Given the description of an element on the screen output the (x, y) to click on. 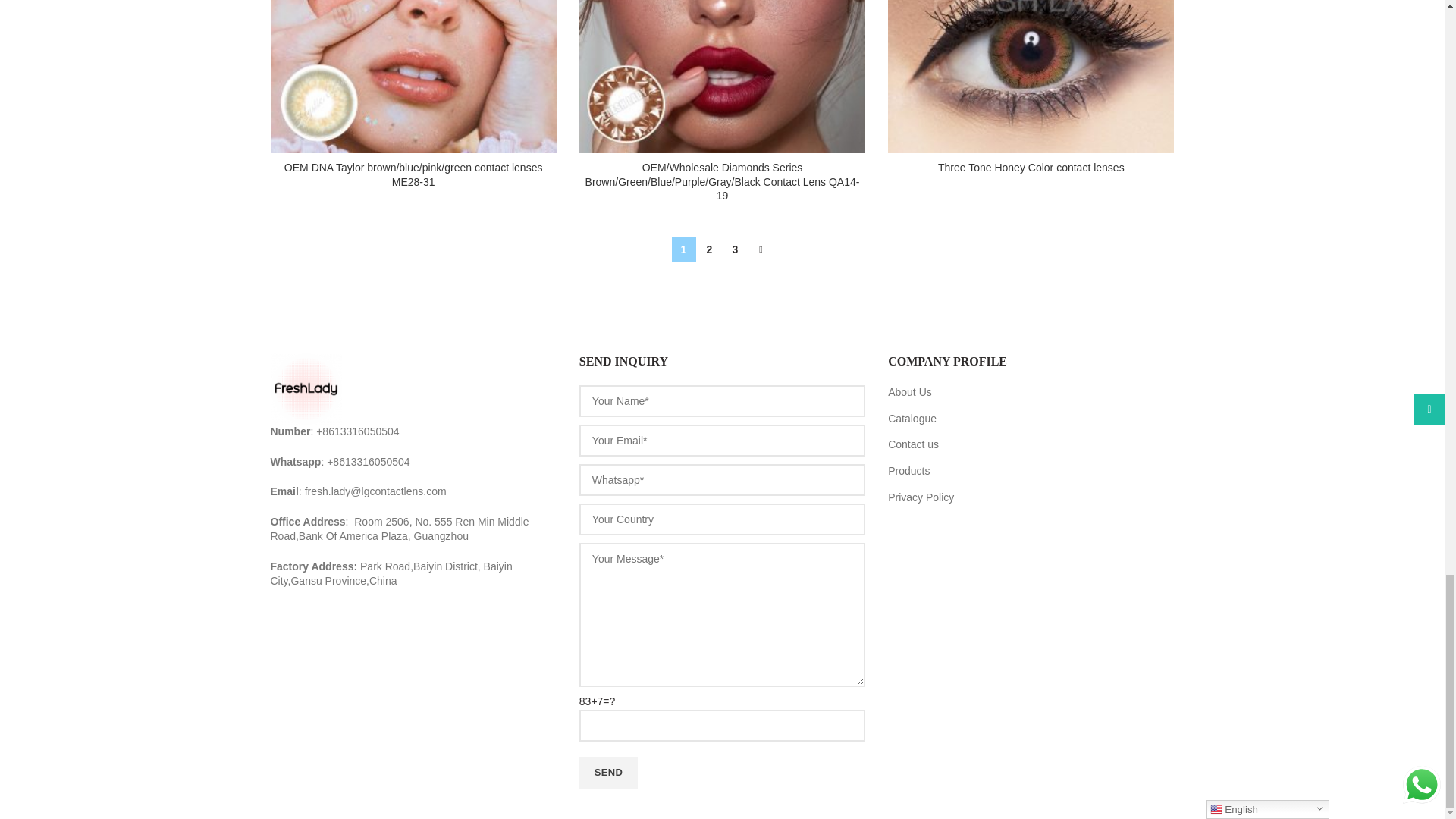
Send (608, 772)
